Given the description of an element on the screen output the (x, y) to click on. 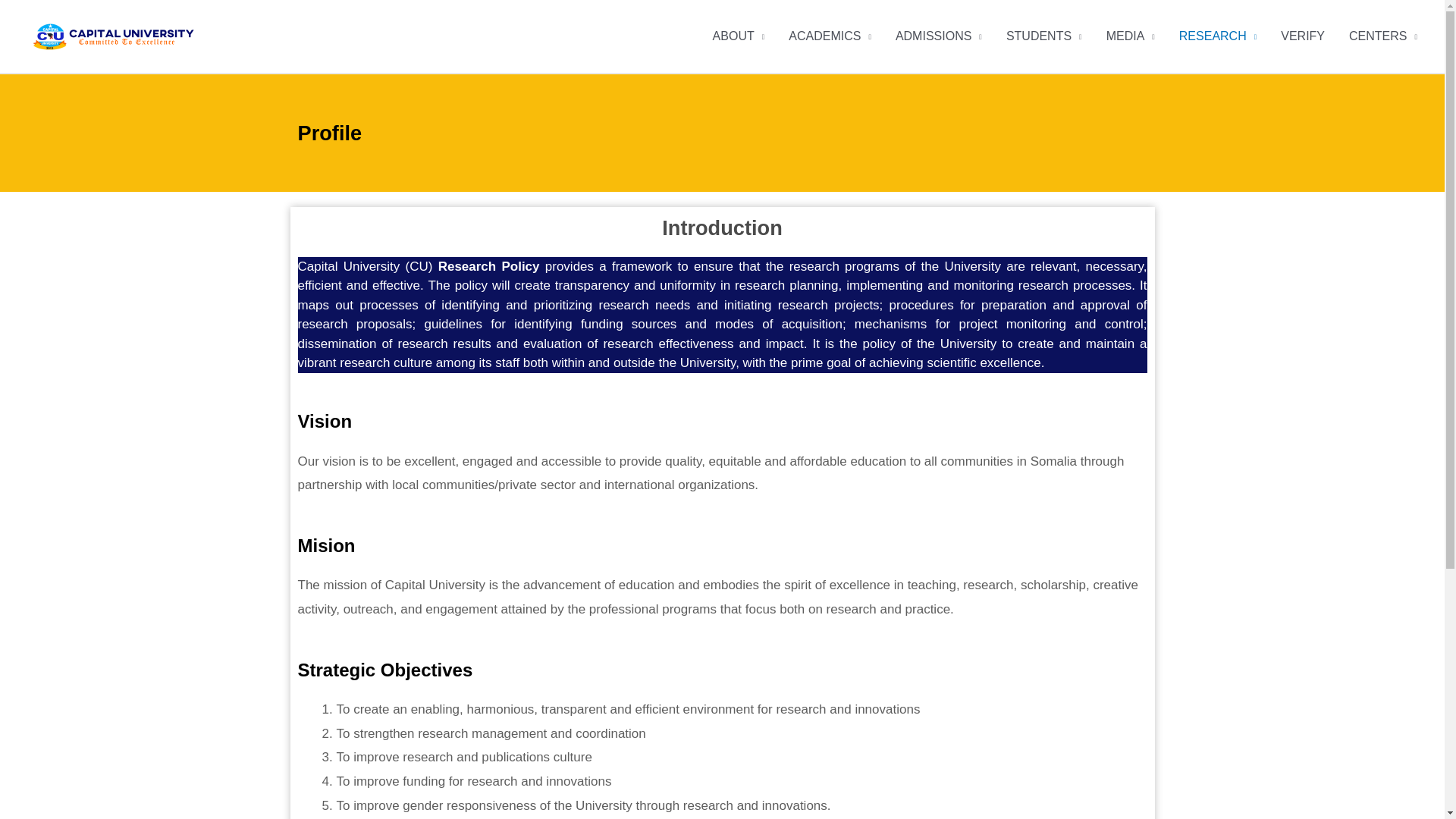
ADMISSIONS (938, 36)
STUDENTS (1044, 36)
ABOUT (738, 36)
ACADEMICS (829, 36)
